Given the description of an element on the screen output the (x, y) to click on. 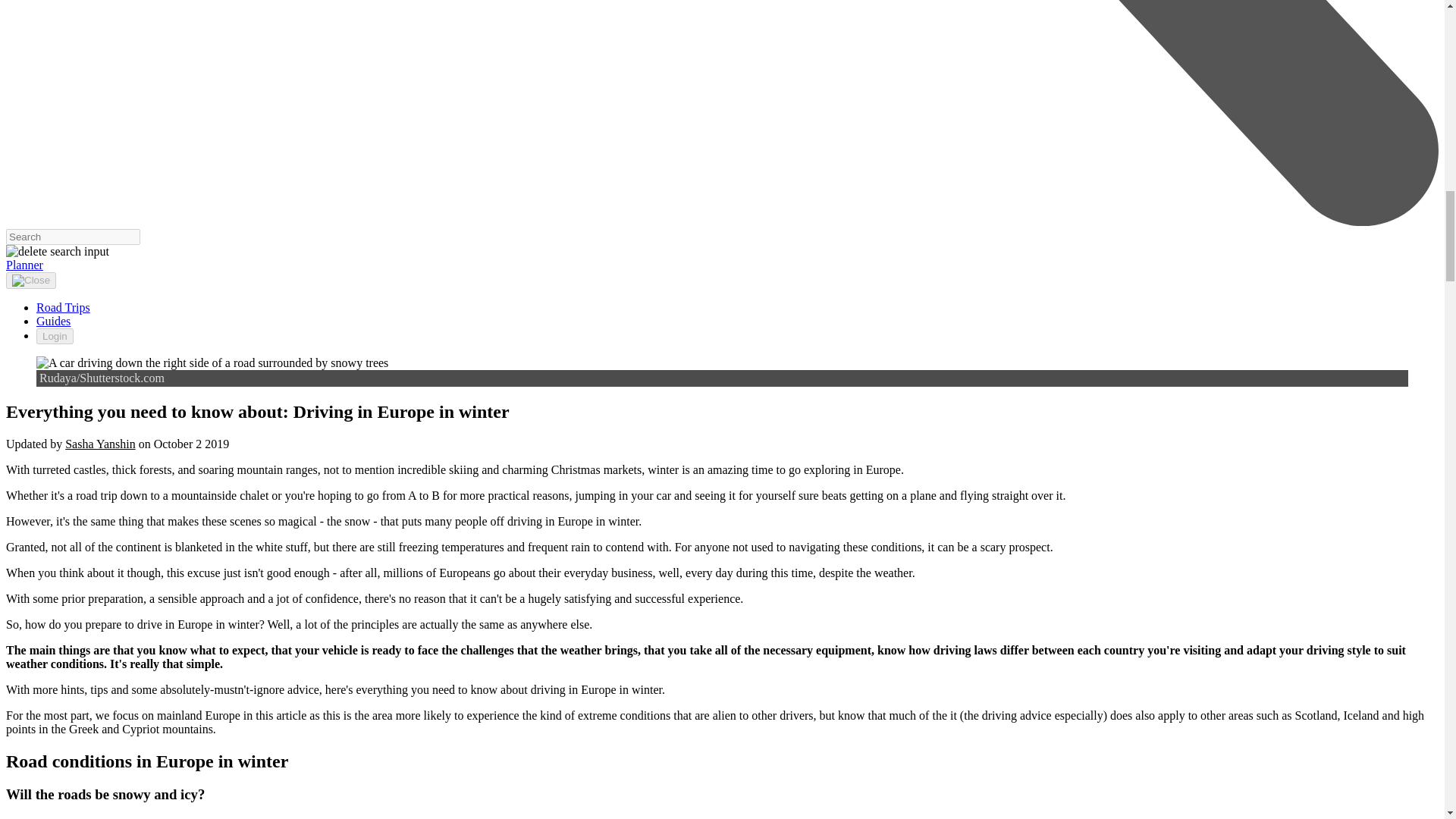
Sasha Yanshin (100, 443)
Planner (24, 264)
Guides (52, 320)
Search (72, 236)
Road Trips (63, 307)
Login (55, 335)
